Given the description of an element on the screen output the (x, y) to click on. 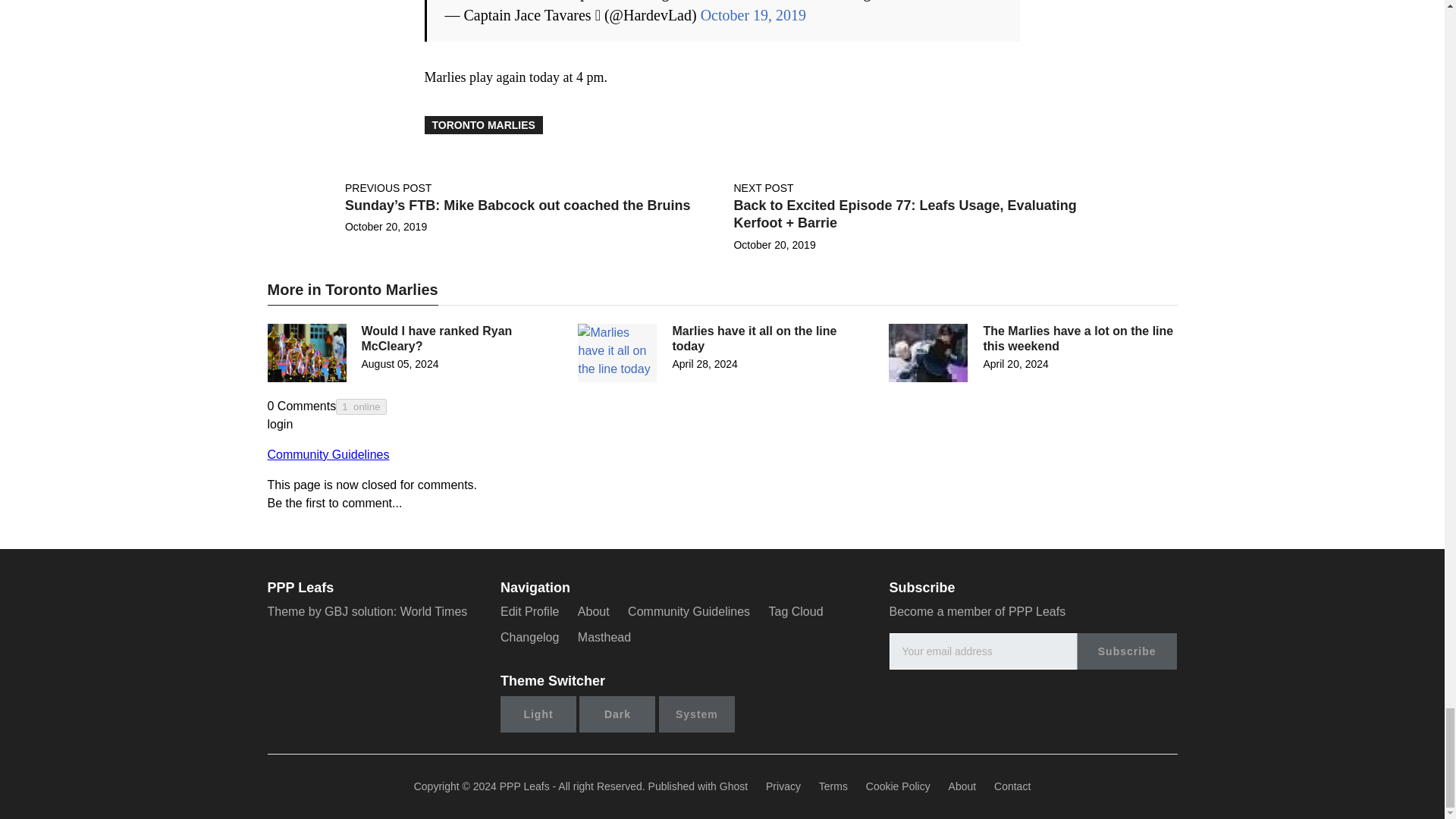
20 April, 2024 (1015, 363)
05 August, 2024 (399, 363)
20 October, 2019 (385, 226)
20 October, 2019 (774, 244)
28 April, 2024 (703, 363)
